Given the description of an element on the screen output the (x, y) to click on. 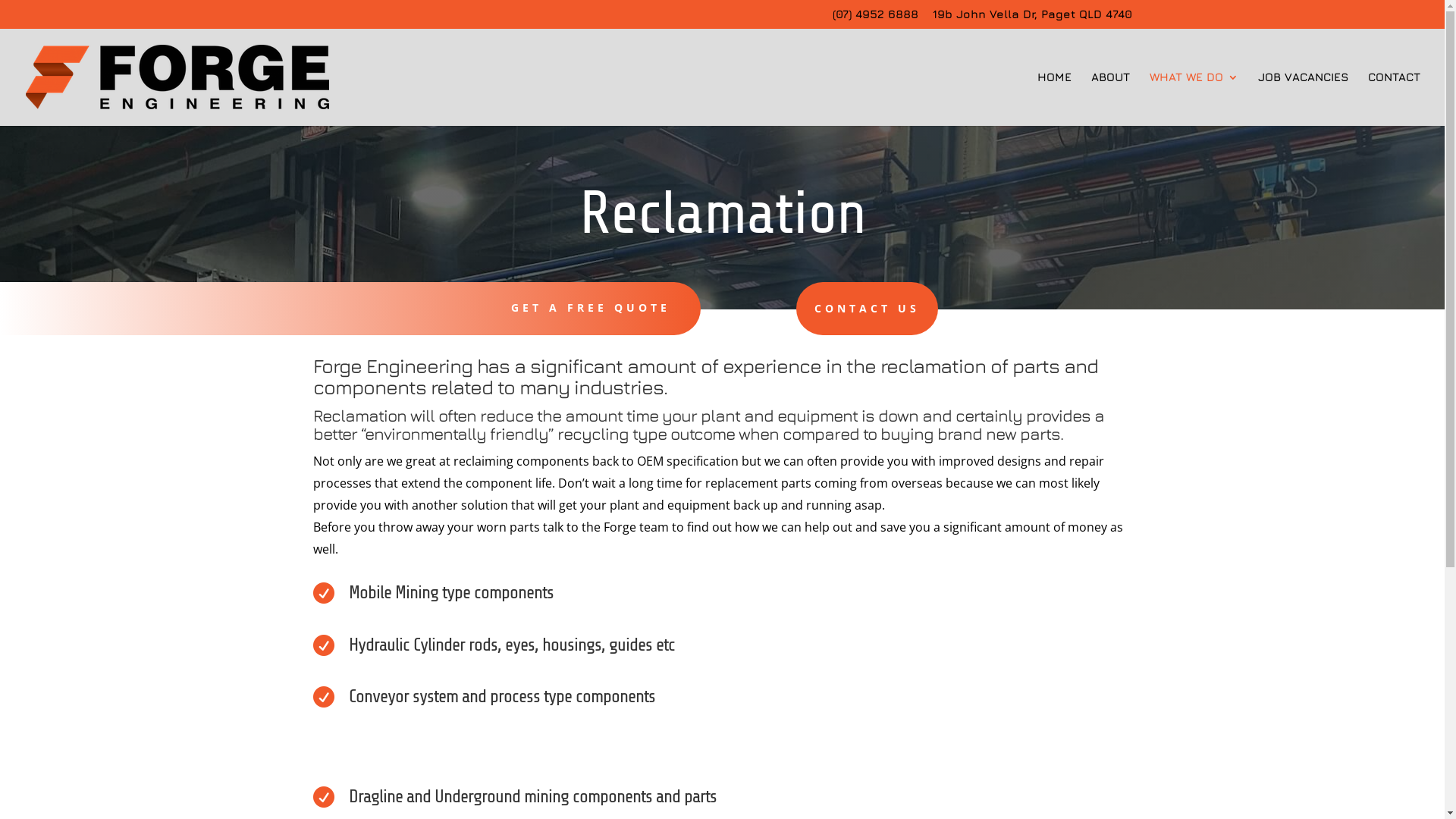
19b John Vella Dr, Paget QLD 4740 Element type: text (1032, 18)
WHAT WE DO Element type: text (1193, 98)
JOB VACANCIES Element type: text (1303, 98)
GET A FREE QUOTE Element type: text (590, 307)
CONTACT US Element type: text (867, 308)
CONTACT Element type: text (1394, 98)
ABOUT Element type: text (1110, 98)
HOME Element type: text (1054, 98)
(07) 4952 6888 Element type: text (875, 18)
